Given the description of an element on the screen output the (x, y) to click on. 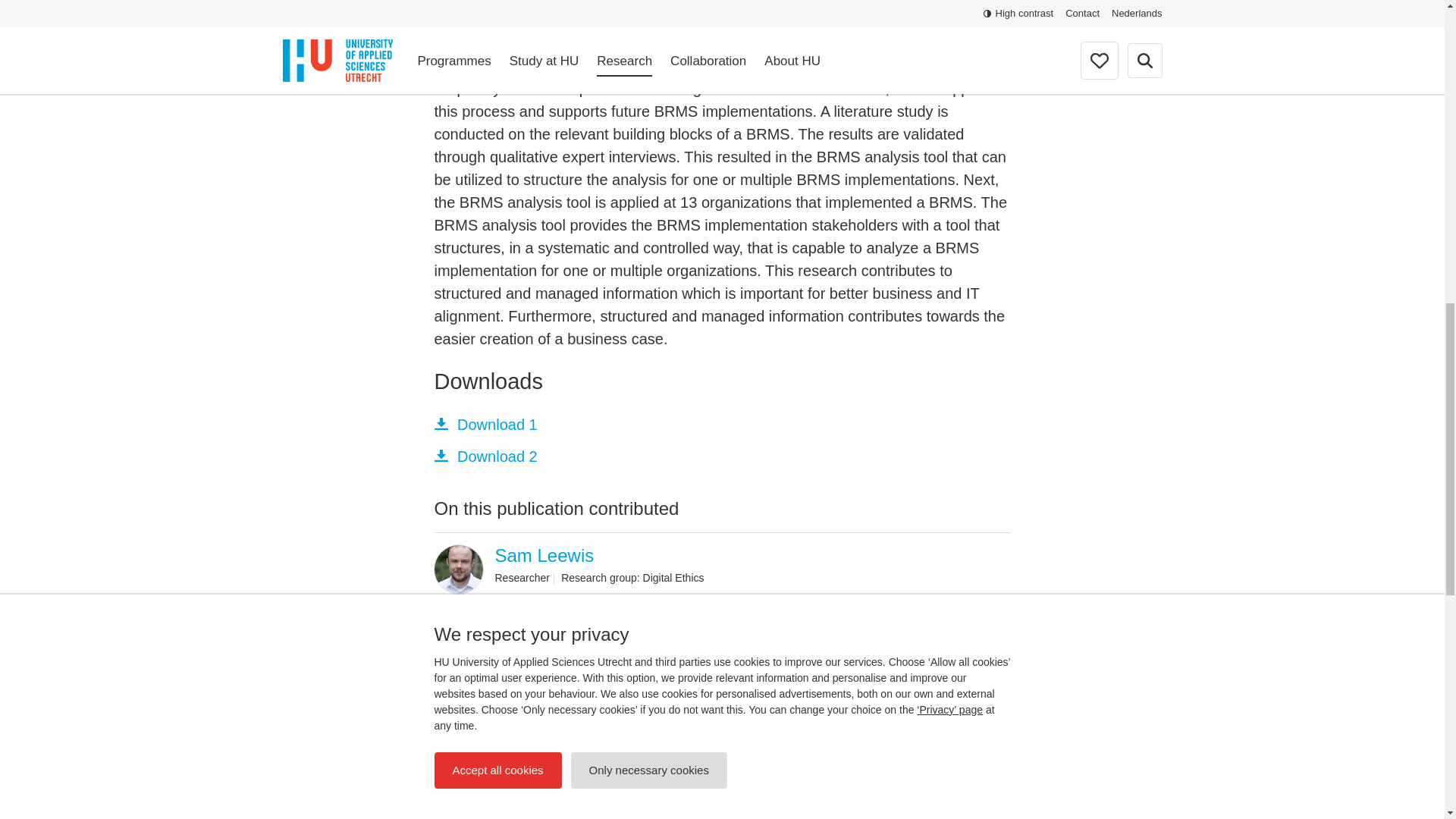
download (439, 423)
download (439, 455)
